Given the description of an element on the screen output the (x, y) to click on. 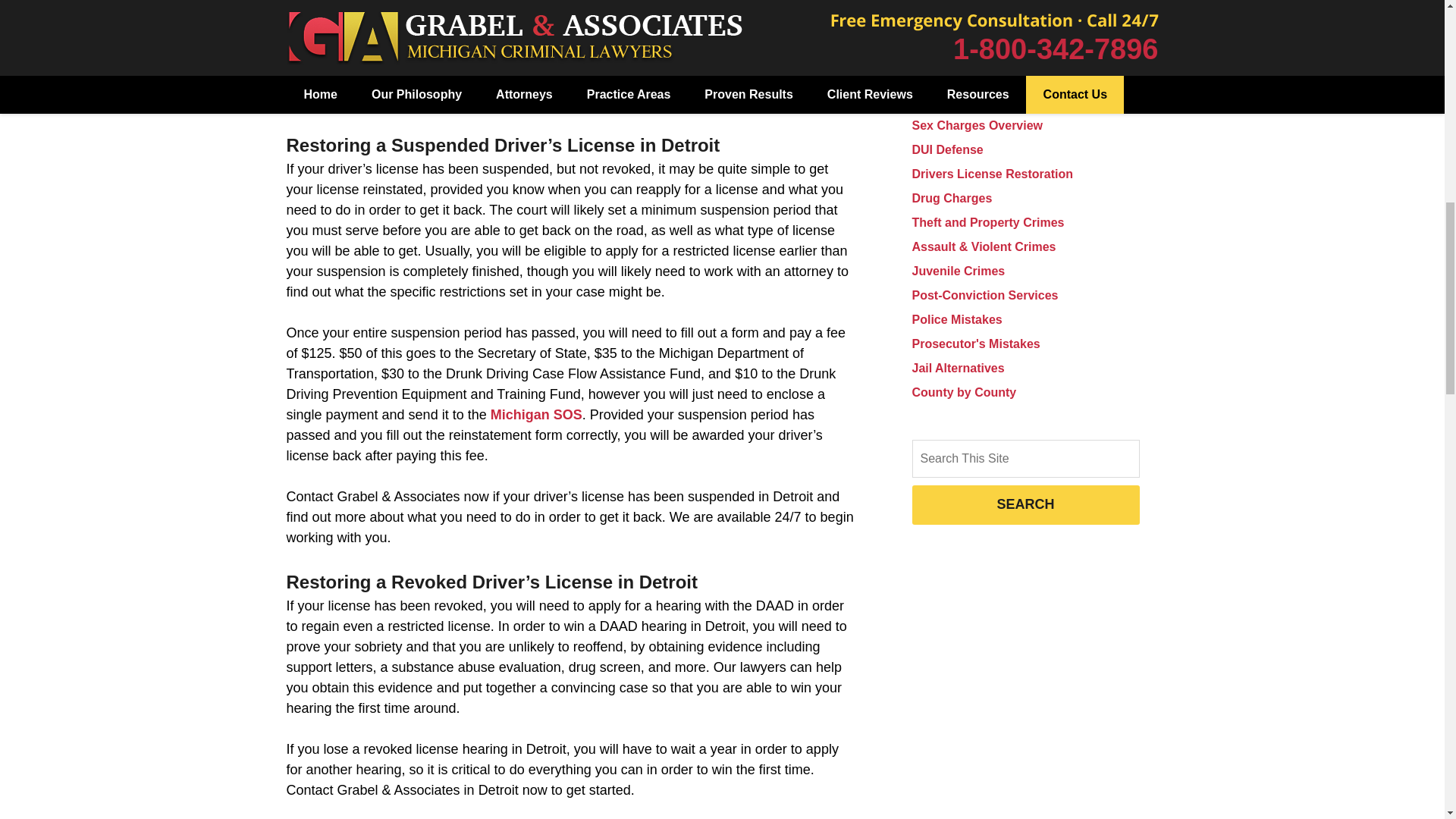
Search (1024, 458)
